Given the description of an element on the screen output the (x, y) to click on. 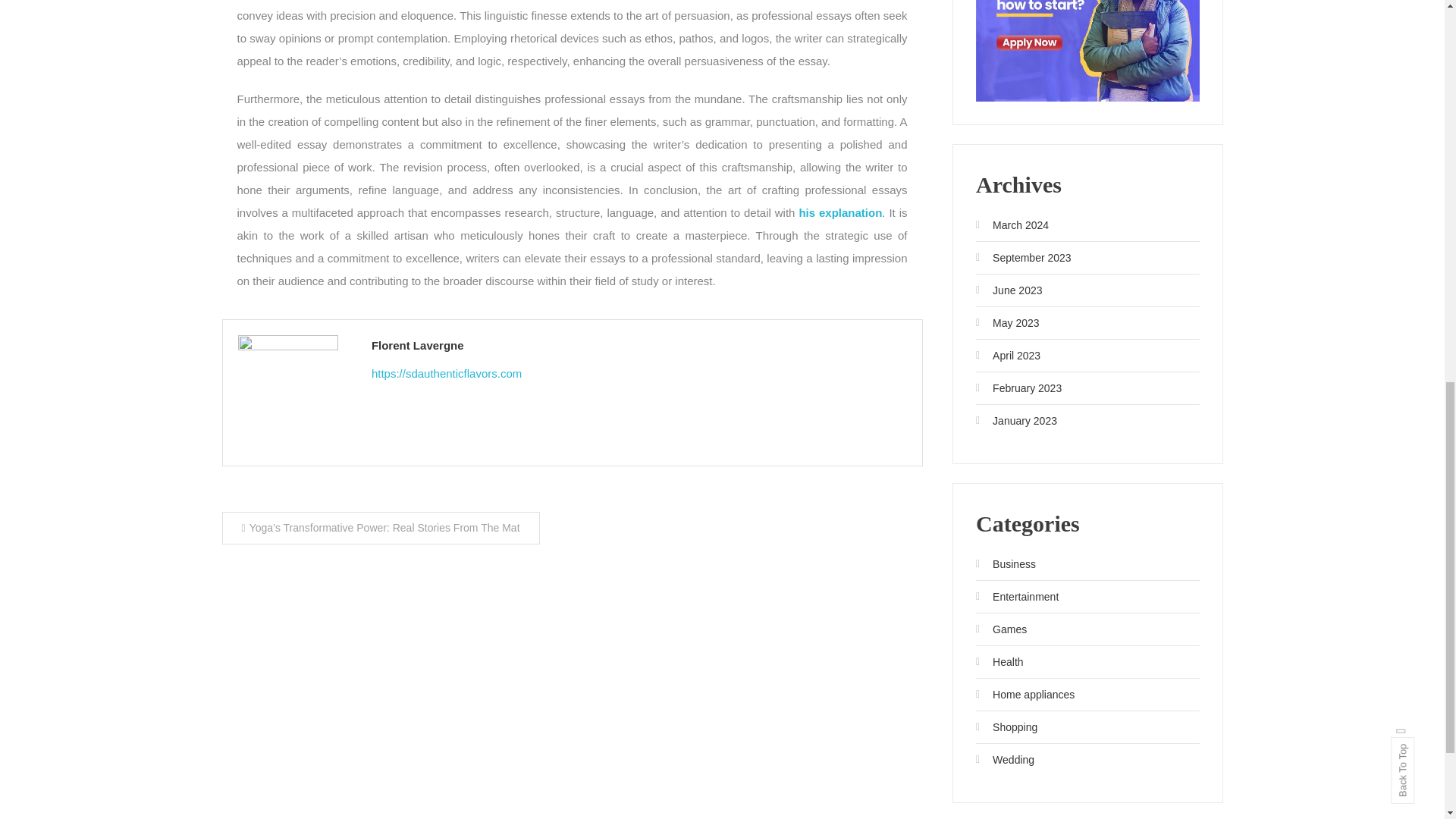
Entertainment (1016, 596)
Health (999, 662)
Florent Lavergne (639, 344)
his explanation (839, 212)
January 2023 (1016, 420)
Games (1000, 629)
Wedding (1004, 759)
June 2023 (1008, 290)
May 2023 (1007, 322)
September 2023 (1023, 257)
March 2024 (1011, 224)
April 2023 (1008, 355)
Business (1005, 564)
Shopping (1005, 726)
February 2023 (1018, 387)
